Given the description of an element on the screen output the (x, y) to click on. 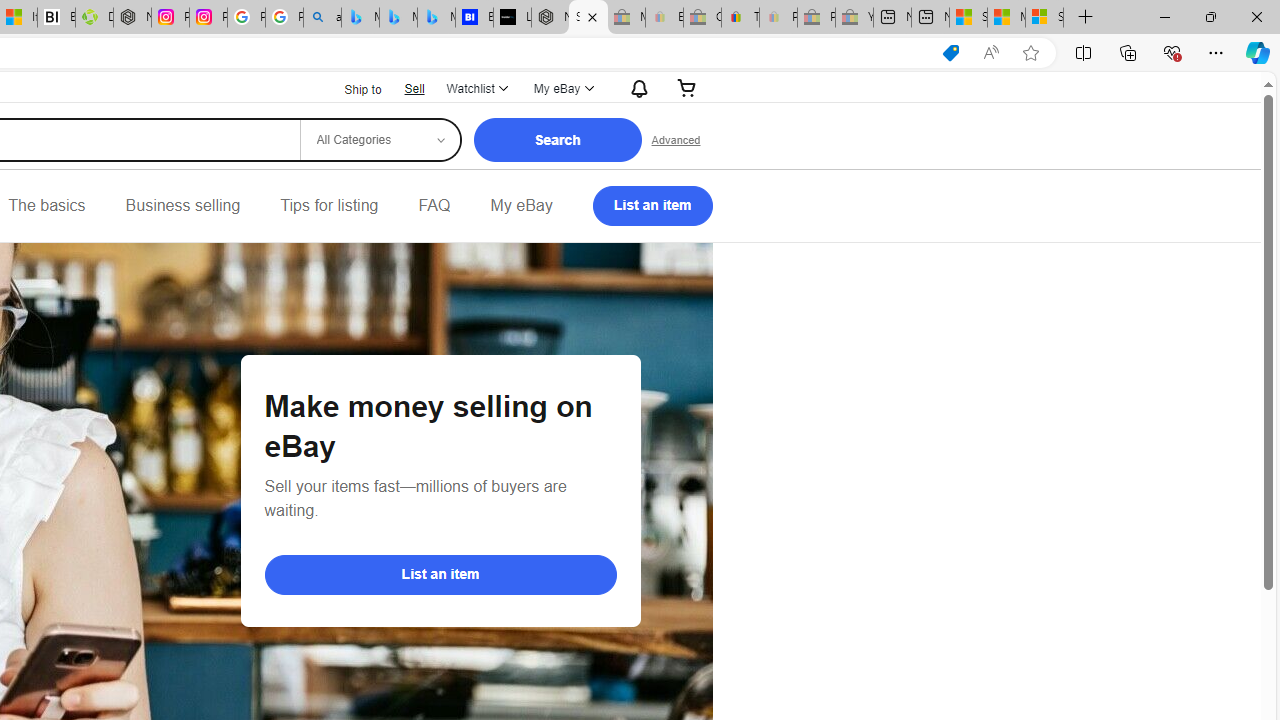
Threats and offensive language policy | eBay (740, 17)
Descarga Driver Updater (93, 17)
Shanghai, China hourly forecast | Microsoft Weather (967, 17)
The basics (46, 205)
This site has coupons! Shopping in Microsoft Edge (950, 53)
Press Room - eBay Inc. - Sleeping (815, 17)
My eBay (521, 205)
Selling on eBay | Electronics, Fashion, Home & Garden | eBay (587, 17)
Advanced Search (675, 139)
Yard, Garden & Outdoor Living - Sleeping (853, 17)
